Given the description of an element on the screen output the (x, y) to click on. 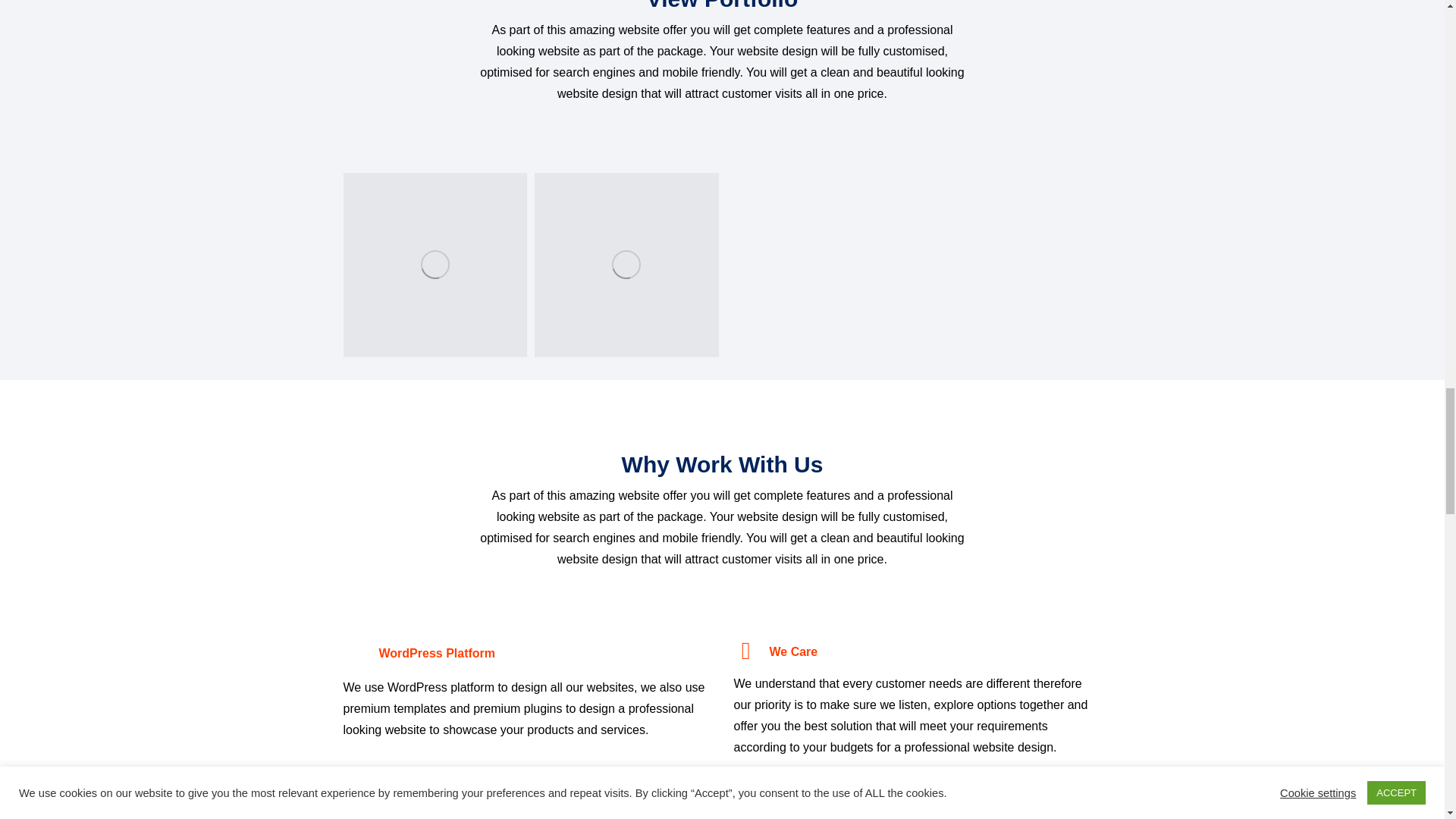
06 (626, 264)
09 (434, 264)
